Given the description of an element on the screen output the (x, y) to click on. 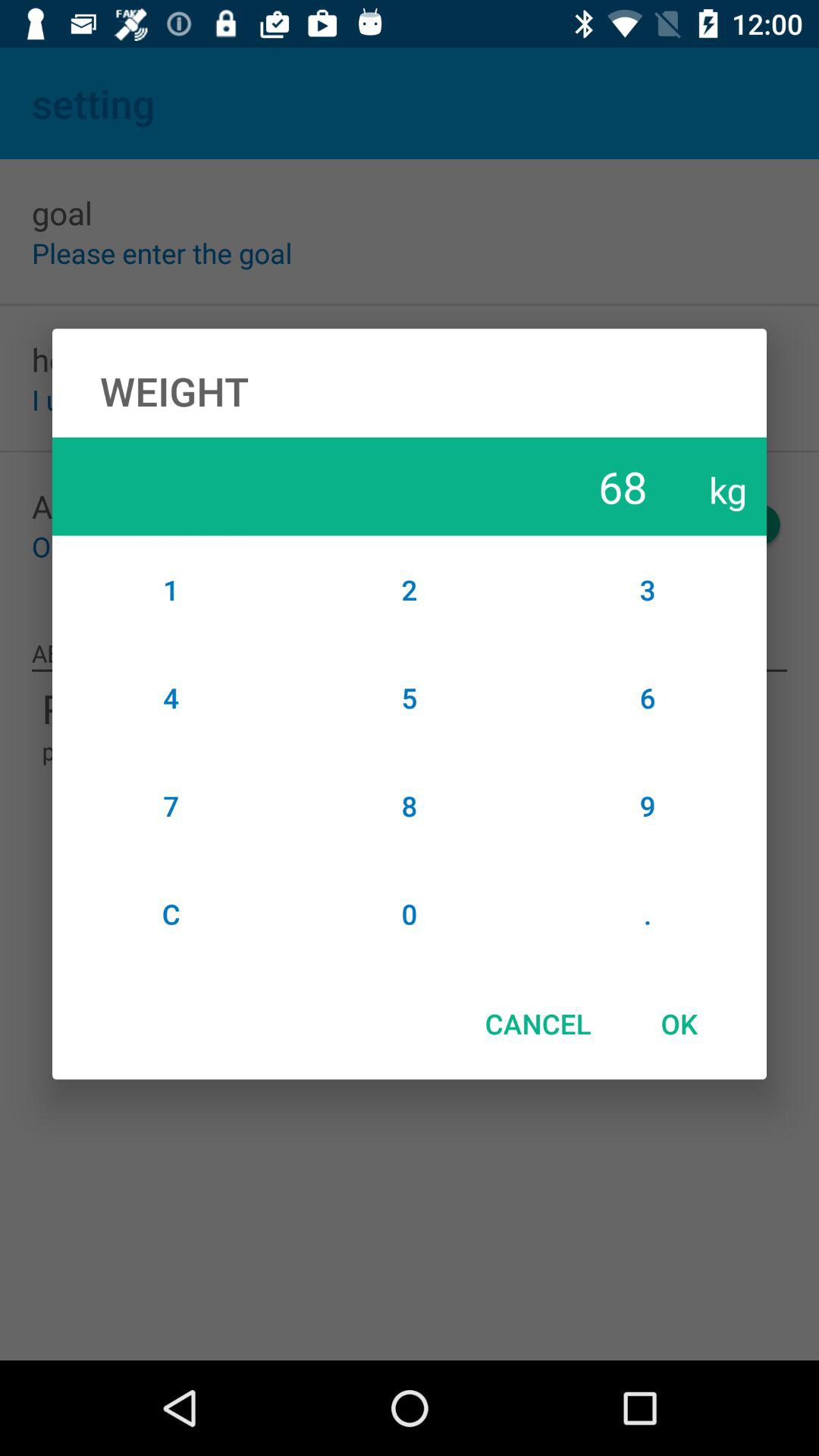
jump to the 1 icon (171, 589)
